Given the description of an element on the screen output the (x, y) to click on. 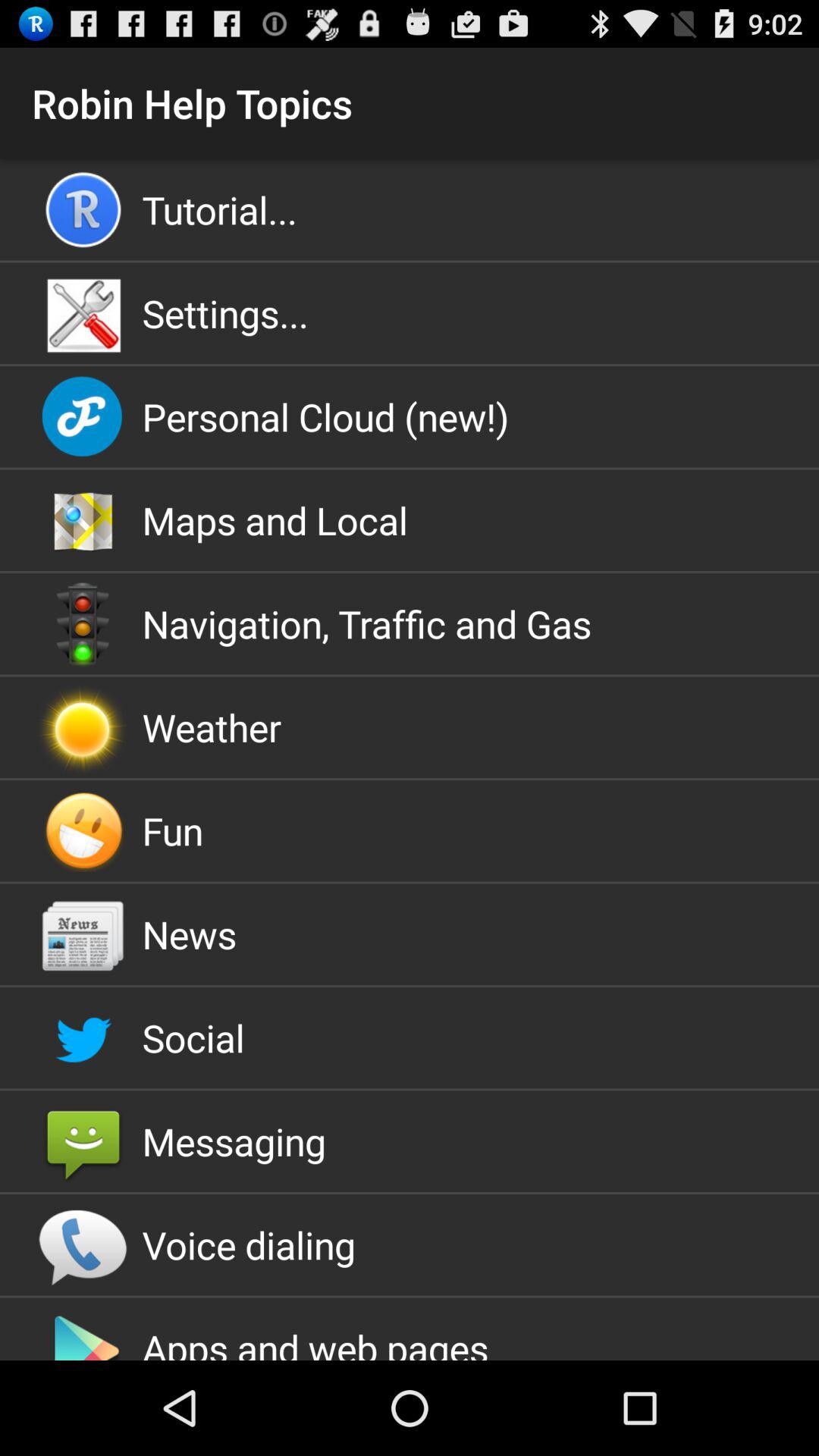
turn off the icon above the  personal cloud (new!) (409, 313)
